Given the description of an element on the screen output the (x, y) to click on. 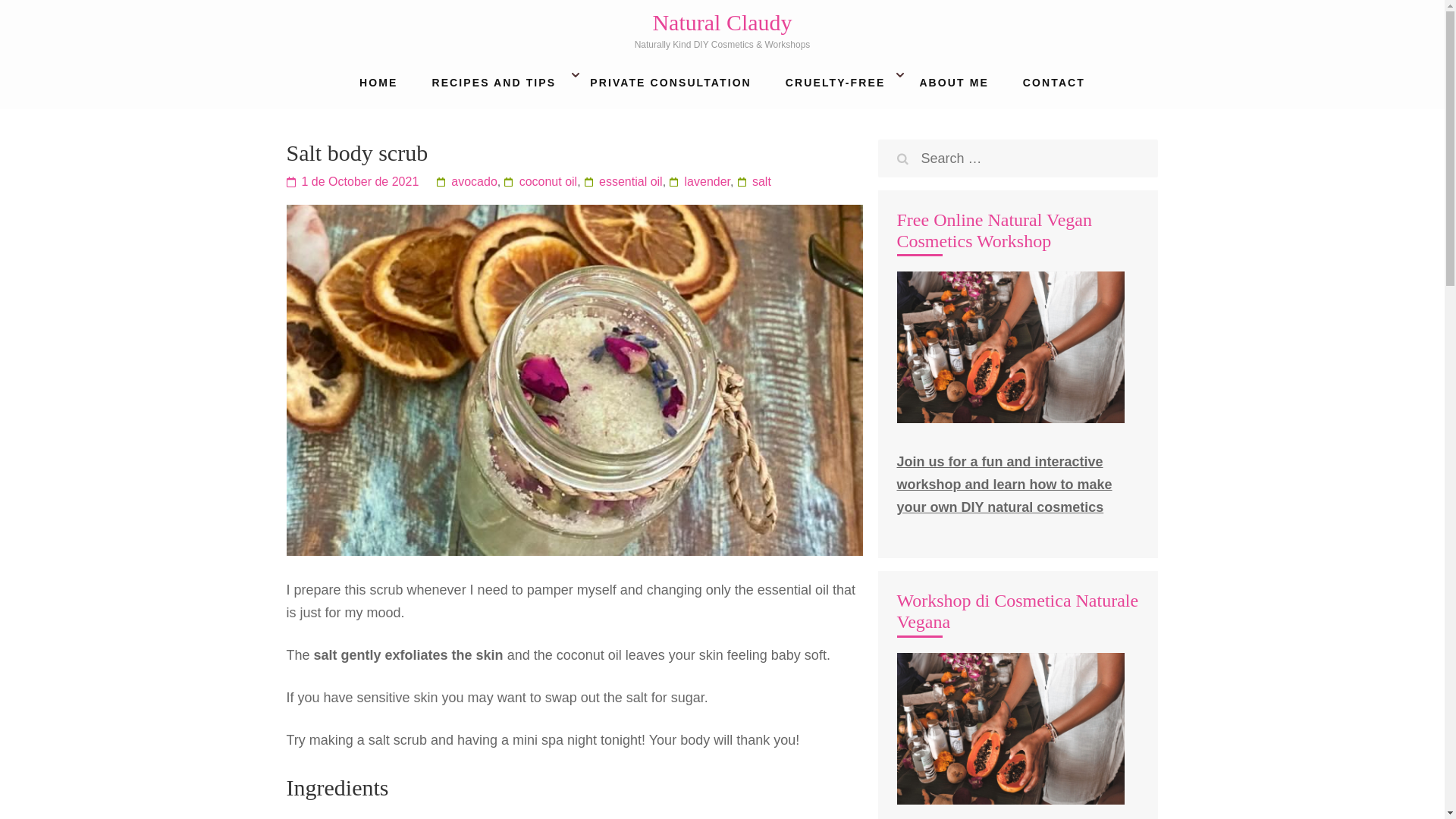
CONTACT (1053, 85)
avocado (466, 181)
salt (753, 181)
RECIPES AND TIPS (493, 85)
essential oil (622, 181)
Natural Claudy (722, 22)
Search (901, 159)
coconut oil (540, 181)
CRUELTY-FREE (835, 85)
1 de October de 2021 (352, 181)
